Given the description of an element on the screen output the (x, y) to click on. 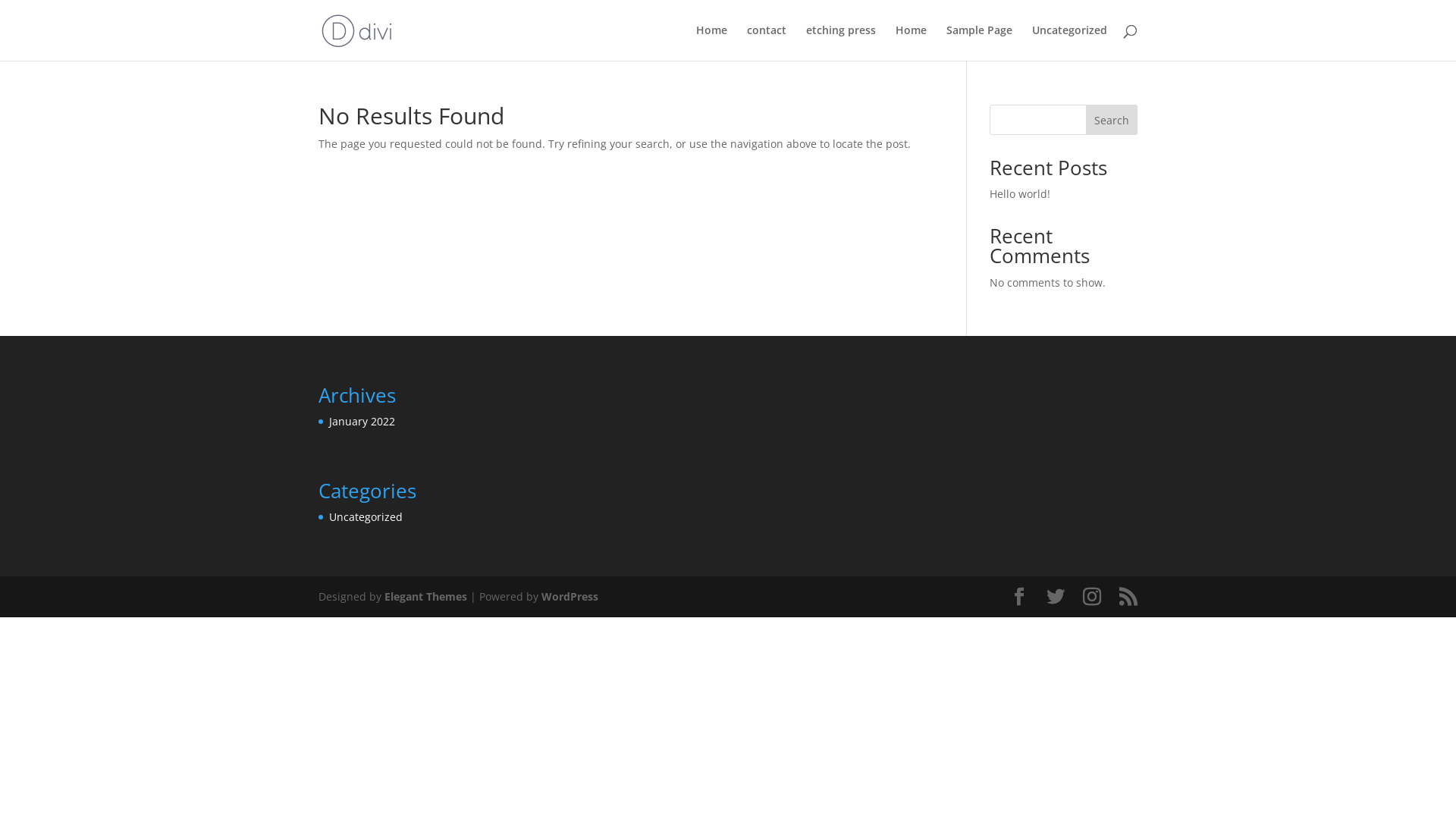
Elegant Themes Element type: text (425, 596)
etching press Element type: text (840, 42)
January 2022 Element type: text (362, 421)
Home Element type: text (711, 42)
WordPress Element type: text (569, 596)
Home Element type: text (910, 42)
Sample Page Element type: text (979, 42)
Uncategorized Element type: text (1069, 42)
contact Element type: text (766, 42)
Uncategorized Element type: text (365, 516)
Hello world! Element type: text (1019, 193)
Search Element type: text (1111, 119)
